Given the description of an element on the screen output the (x, y) to click on. 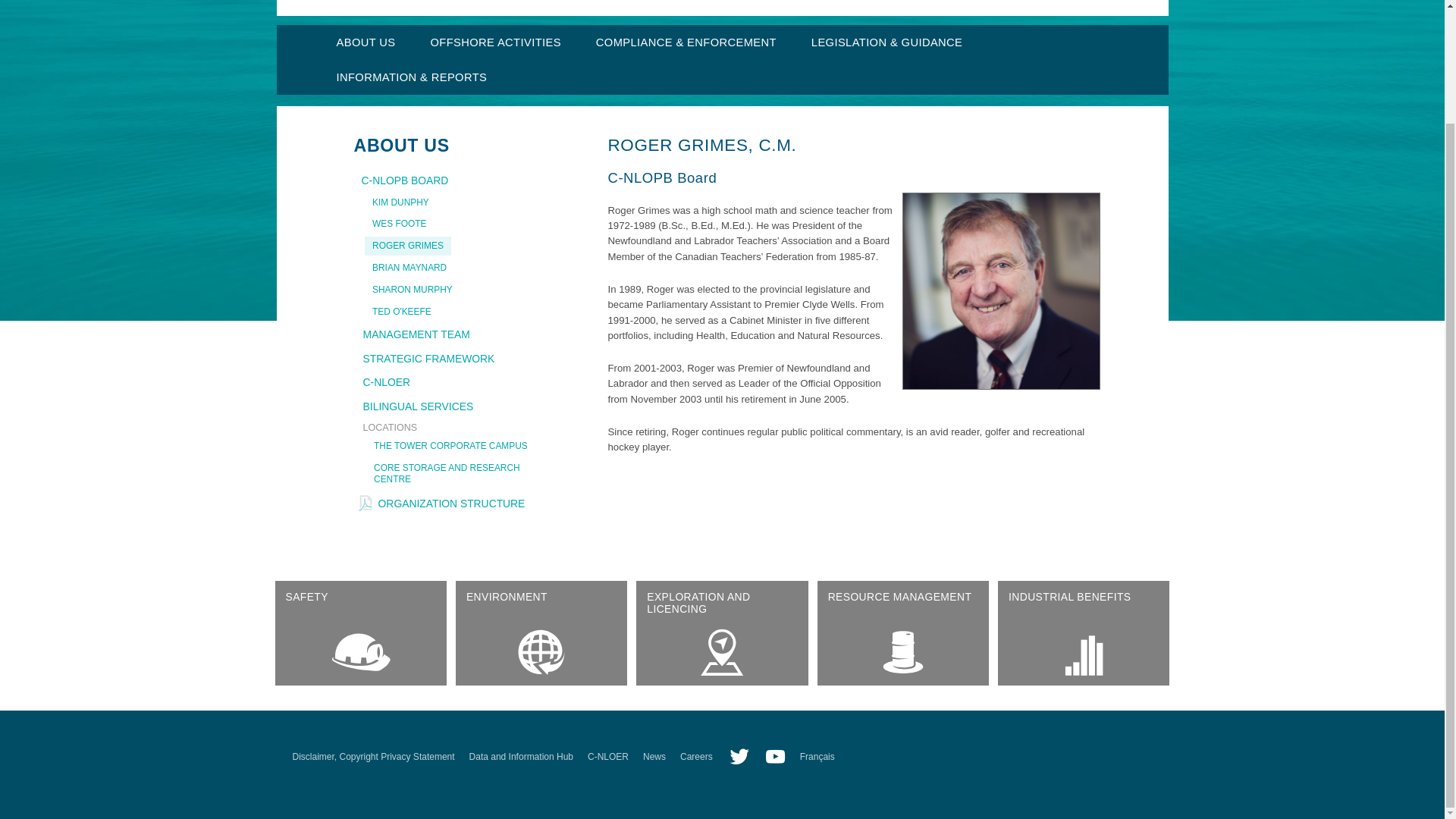
ABOUT US (365, 42)
OFFSHORE ACTIVITIES (494, 42)
